Given the description of an element on the screen output the (x, y) to click on. 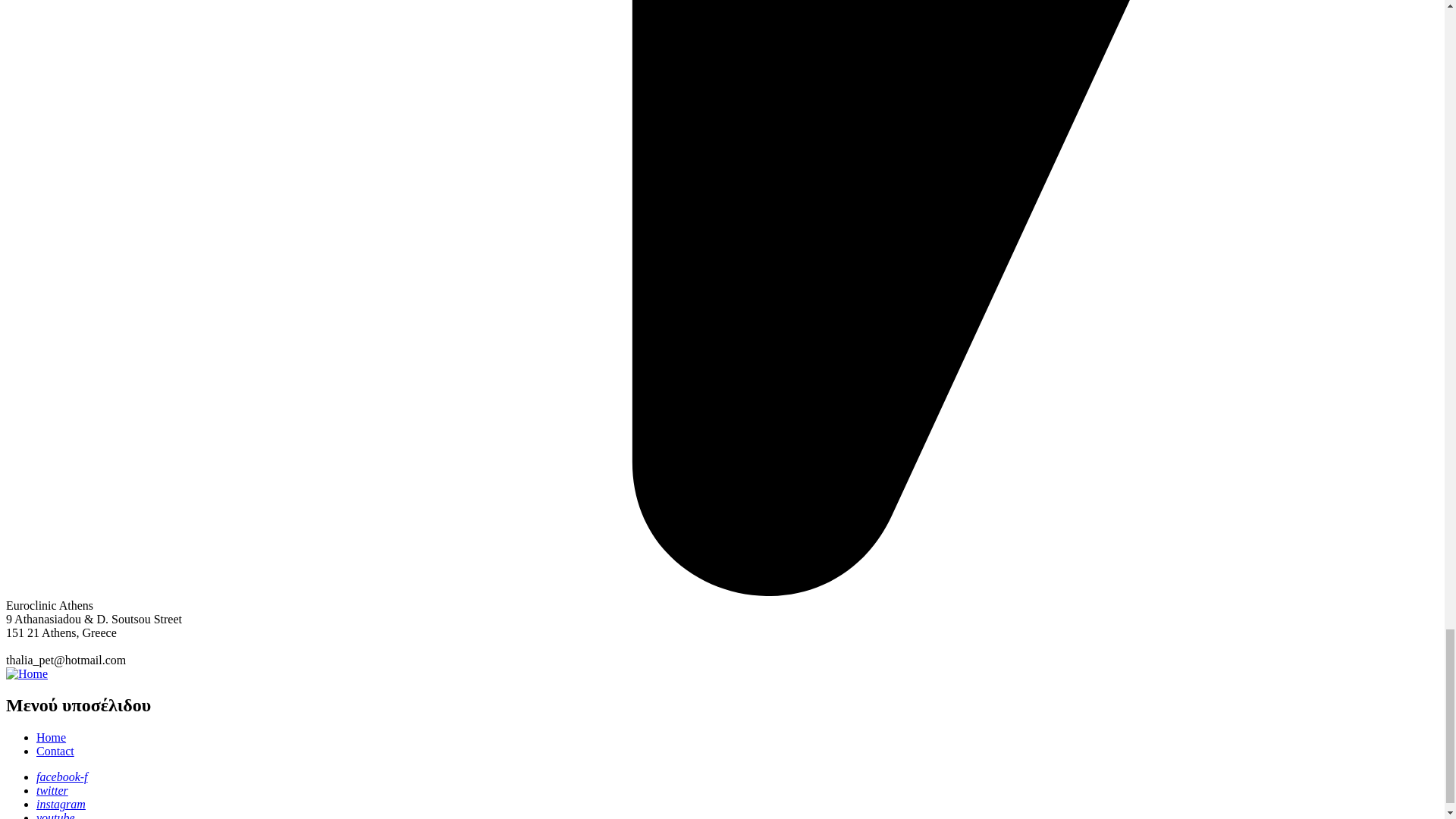
Home (26, 672)
